Given the description of an element on the screen output the (x, y) to click on. 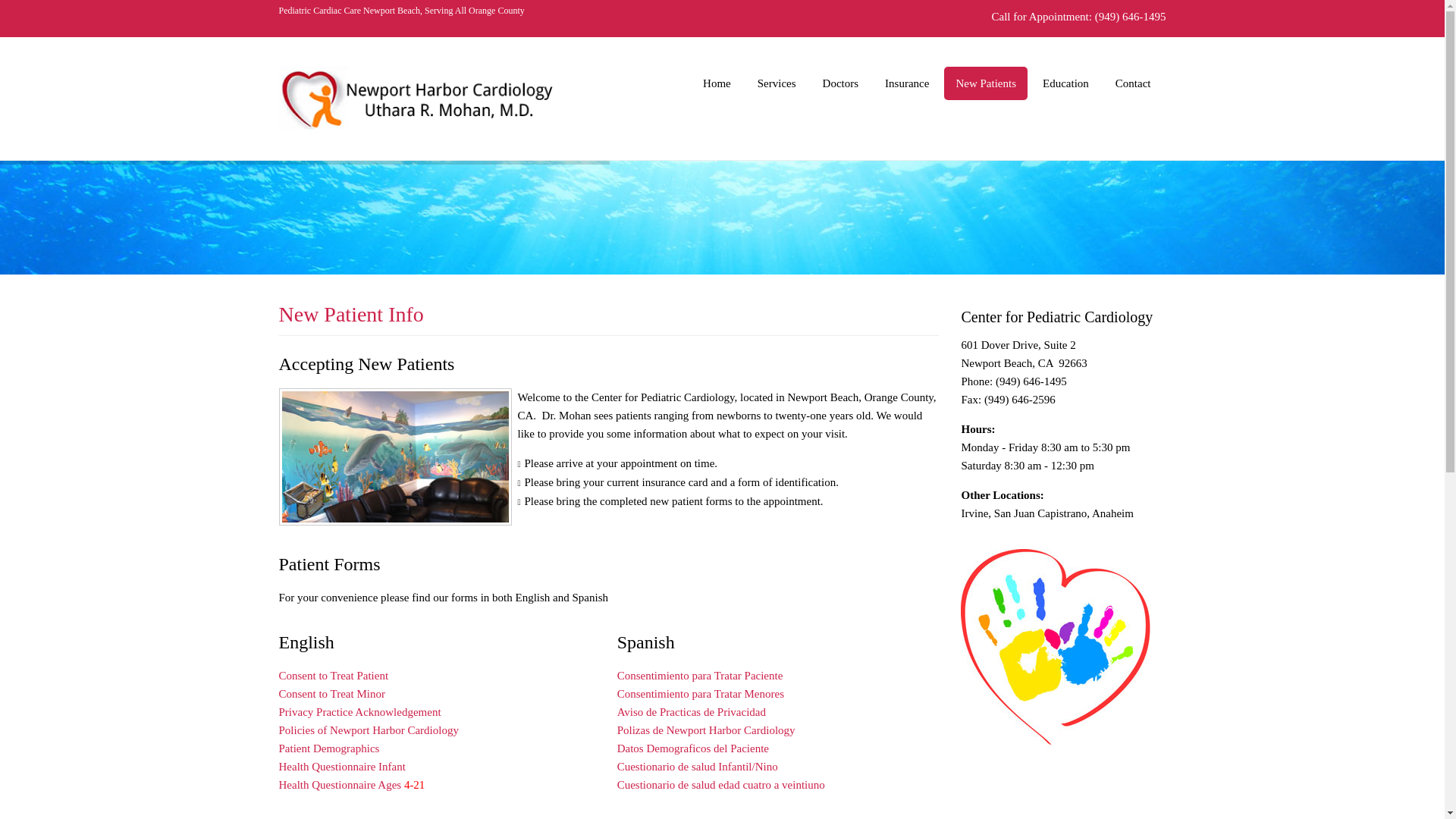
Patient Demographics (329, 748)
Cuestionario de salud edad cuatro a veintiuno (721, 784)
Policies of Newport Harbor Cardiology (368, 729)
Health Questionnaire Infant (342, 766)
Policies of Newport Harbor Cardiology (368, 729)
Datos Demograficos del Paciente (692, 748)
New Patients (985, 82)
Cuestionario de salud edad cuatro a veintiuno (721, 784)
Doctors (840, 82)
Aviso de Practicas de Privacidad (691, 711)
